Given the description of an element on the screen output the (x, y) to click on. 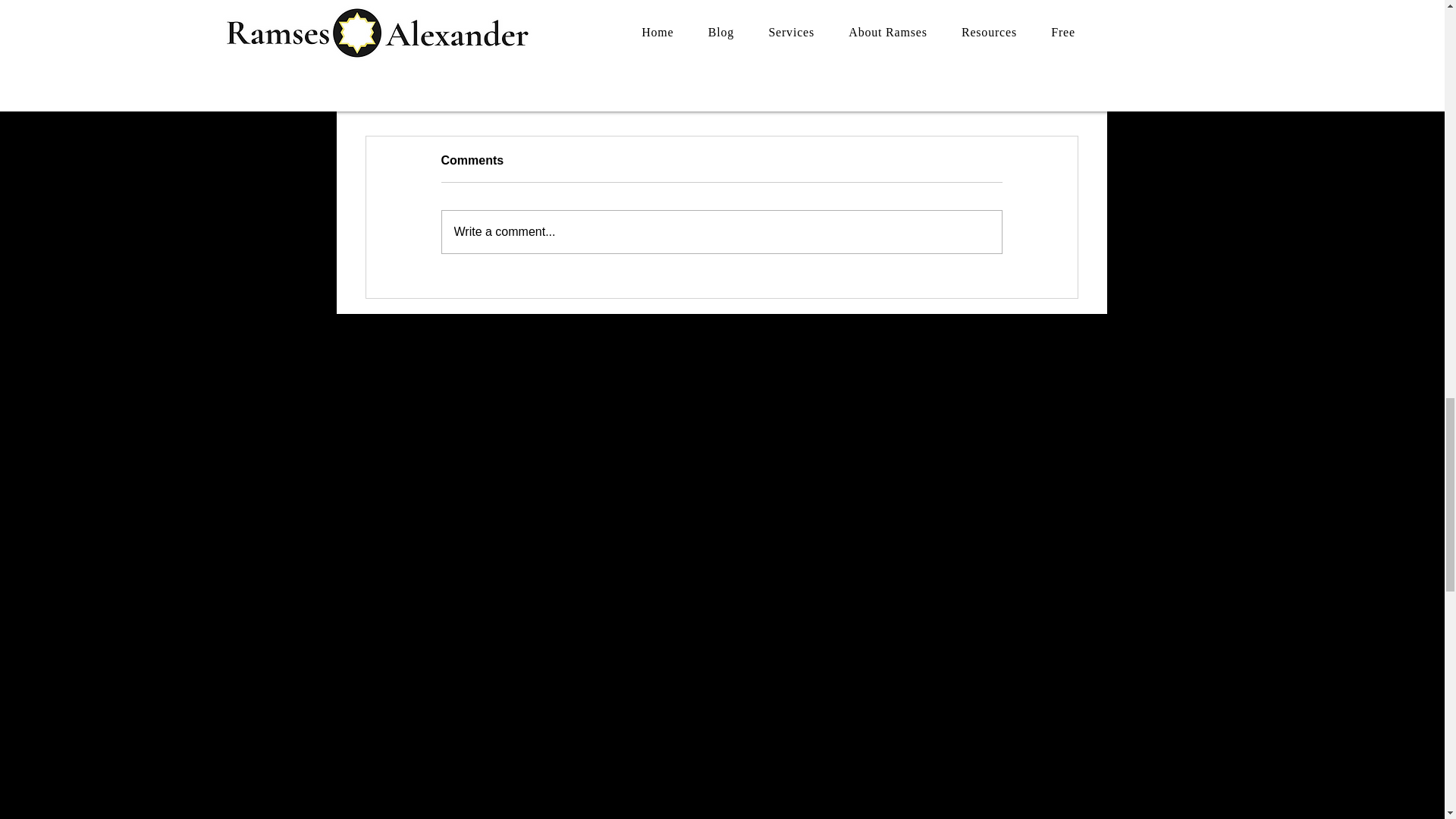
0 (439, 83)
Write a comment... (800, 83)
2 (721, 231)
0 (690, 83)
Post not marked as liked (930, 83)
